Given the description of an element on the screen output the (x, y) to click on. 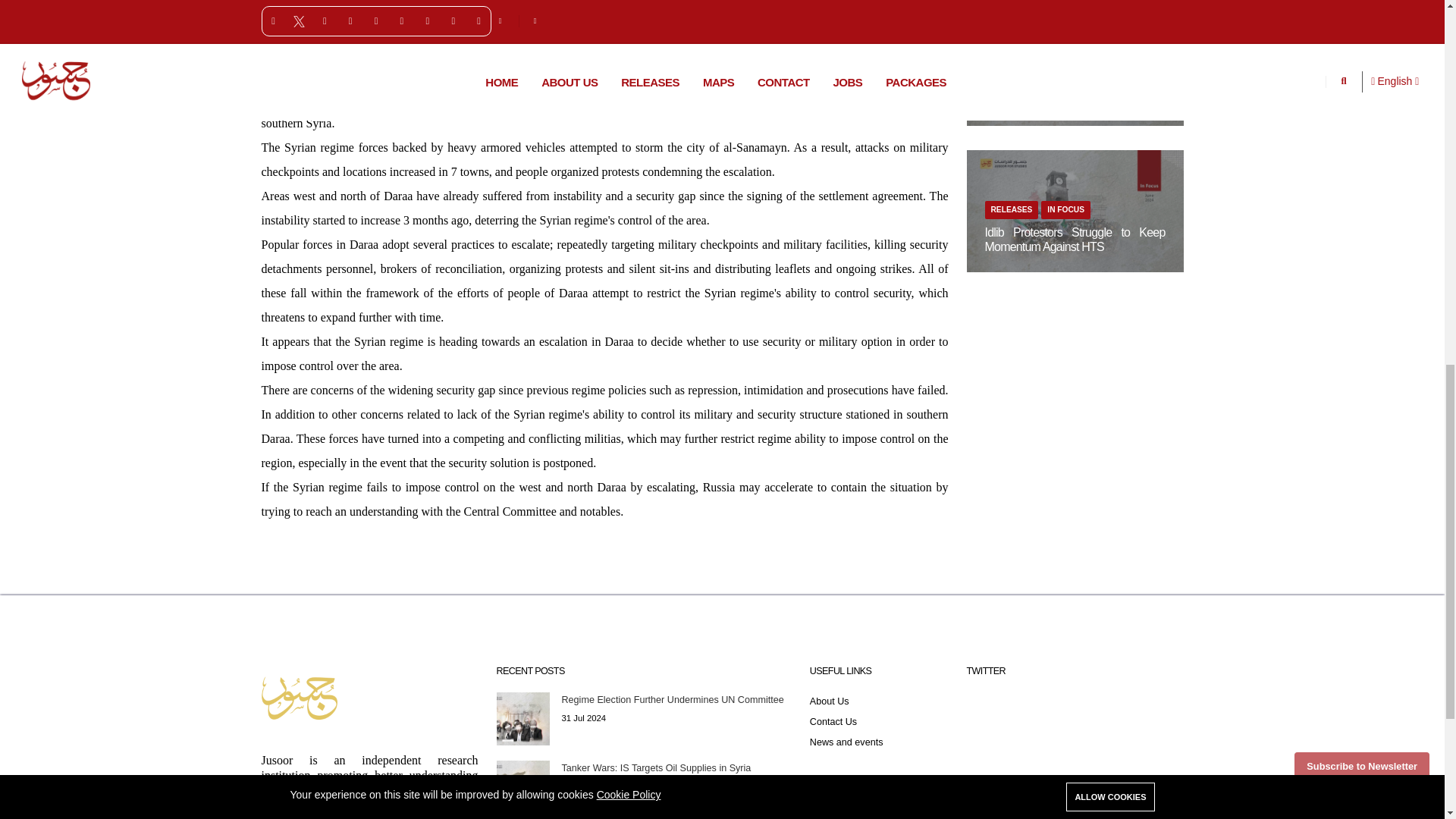
Twitter (456, 11)
Telegram (512, 11)
Linkedin (483, 11)
Facebook (428, 11)
Email (541, 11)
